Given the description of an element on the screen output the (x, y) to click on. 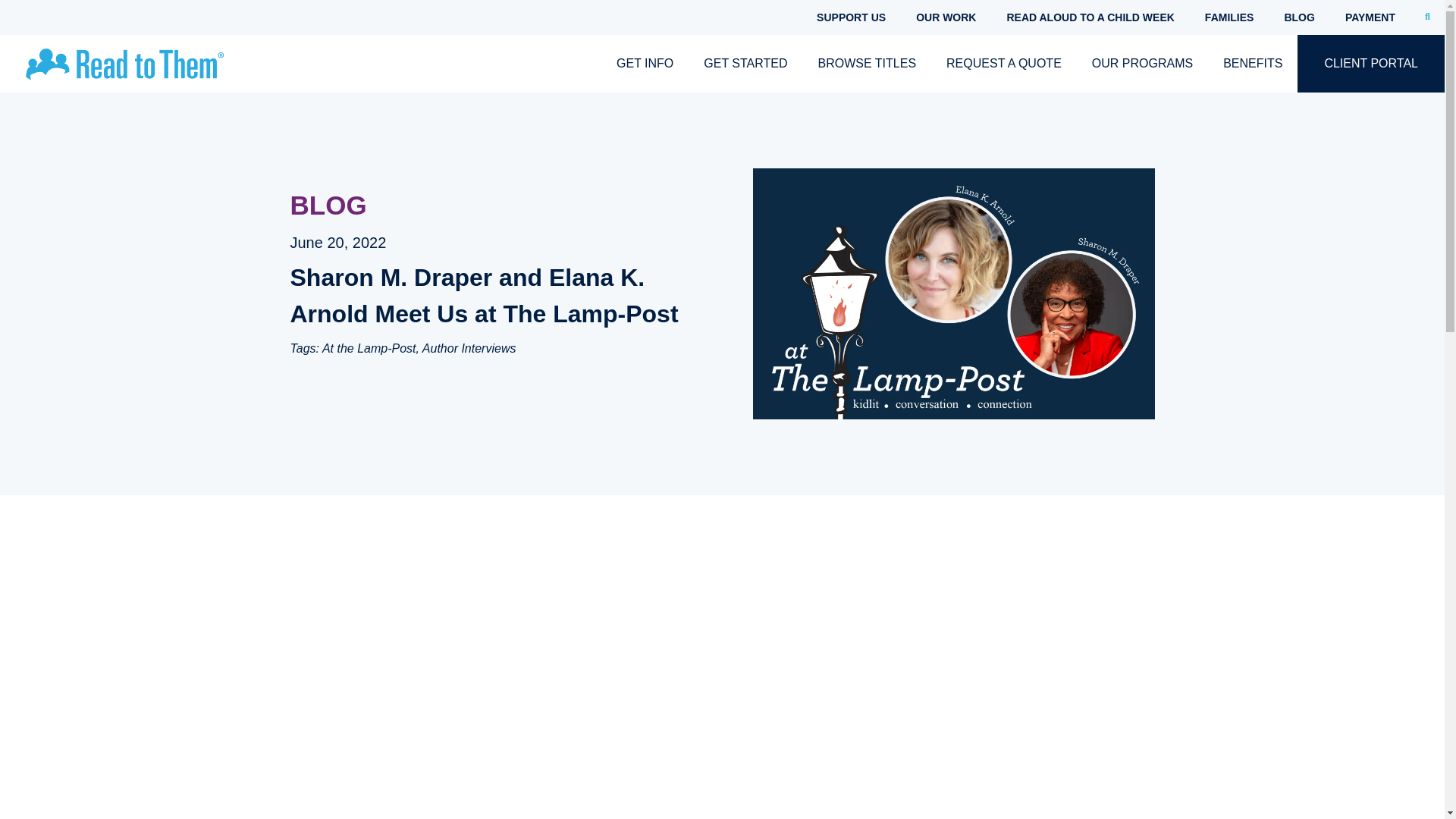
GET INFO (644, 63)
SUPPORT US (851, 17)
BENEFITS (1252, 63)
REQUEST A QUOTE (1004, 63)
BROWSE TITLES (867, 63)
GET STARTED (745, 63)
PAYMENT (1370, 17)
BLOG (1298, 17)
READ ALOUD TO A CHILD WEEK (1090, 17)
